Given the description of an element on the screen output the (x, y) to click on. 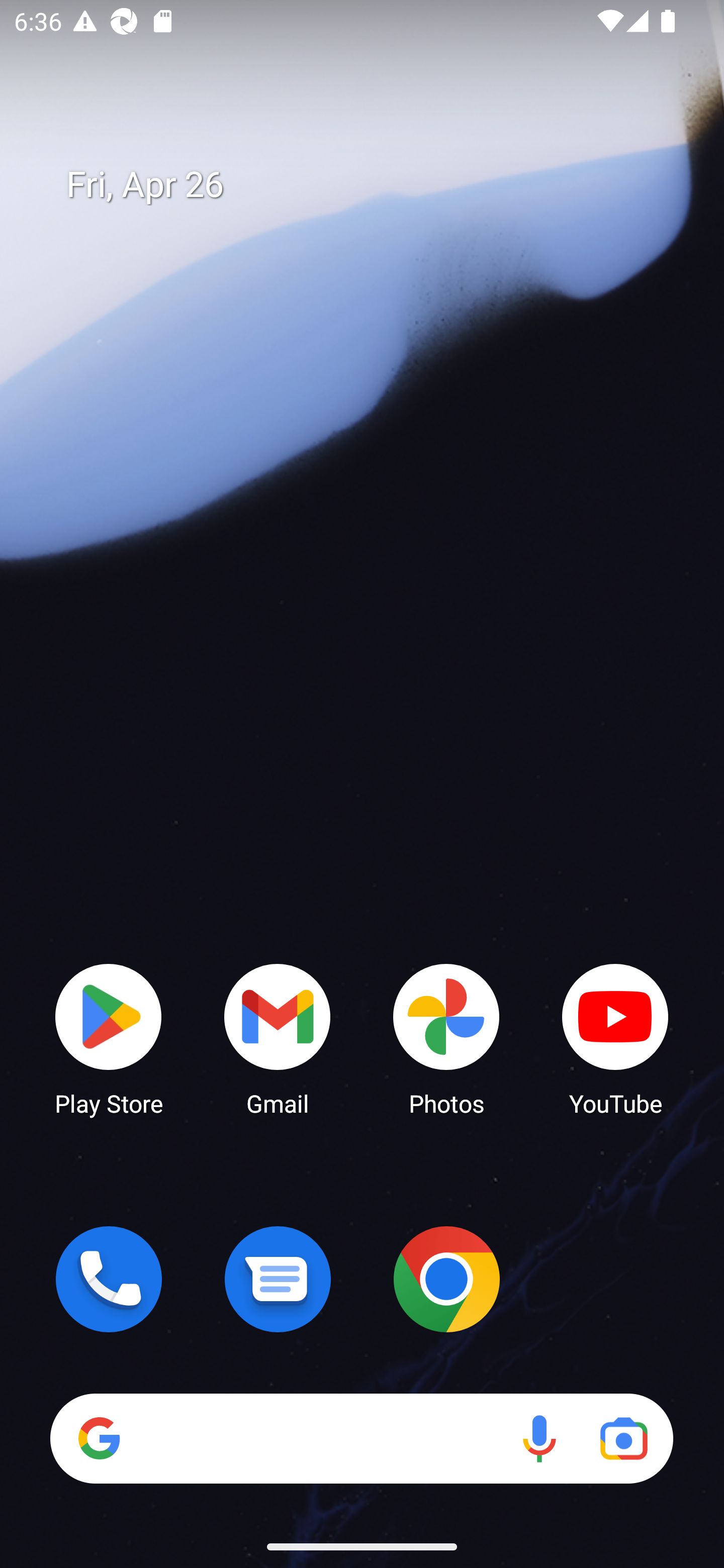
Fri, Apr 26 (375, 184)
Play Store (108, 1038)
Gmail (277, 1038)
Photos (445, 1038)
YouTube (615, 1038)
Phone (108, 1279)
Messages (277, 1279)
Chrome (446, 1279)
Search Voice search Google Lens (361, 1438)
Voice search (539, 1438)
Google Lens (623, 1438)
